Given the description of an element on the screen output the (x, y) to click on. 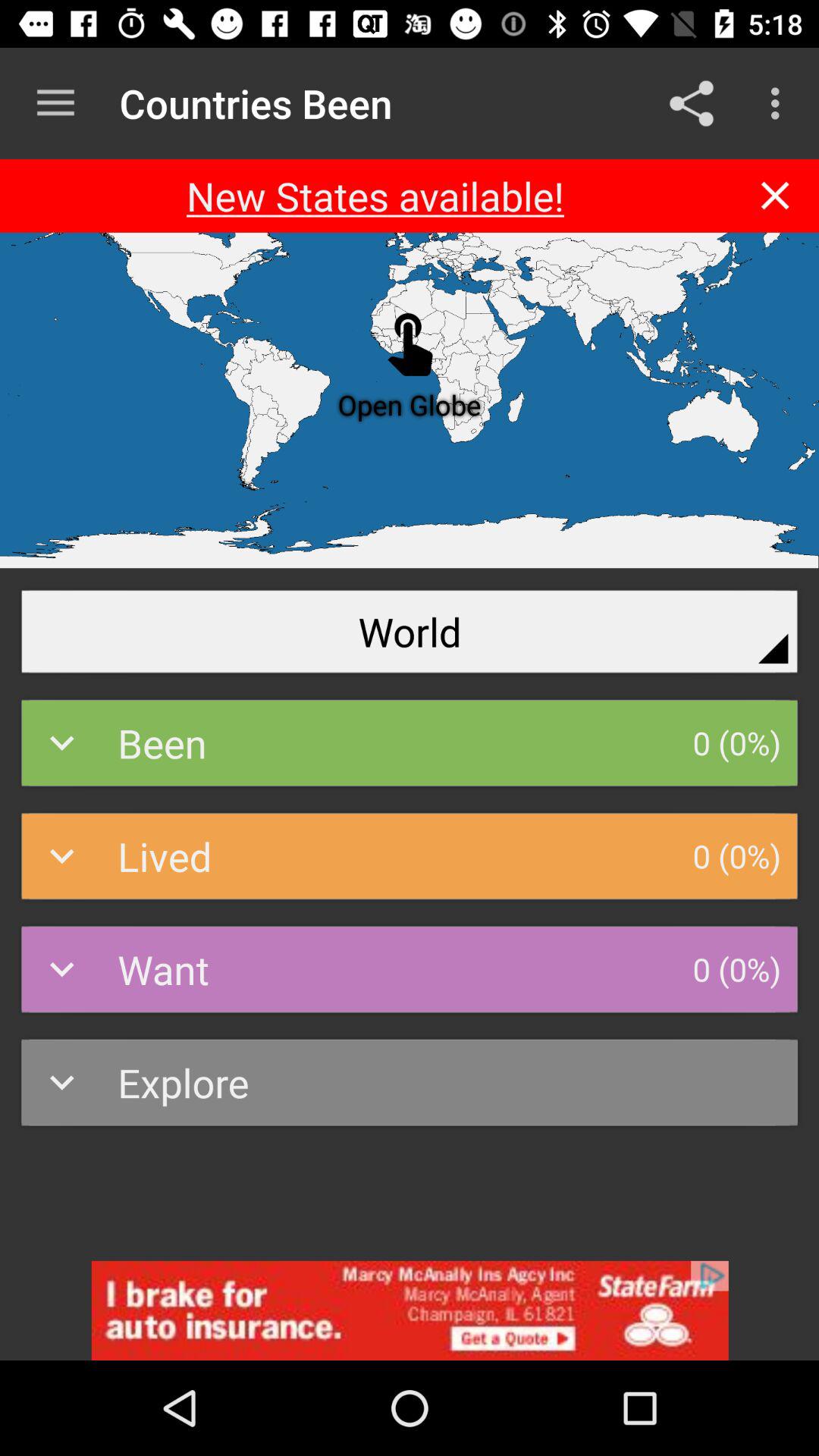
open menu (55, 103)
